Given the description of an element on the screen output the (x, y) to click on. 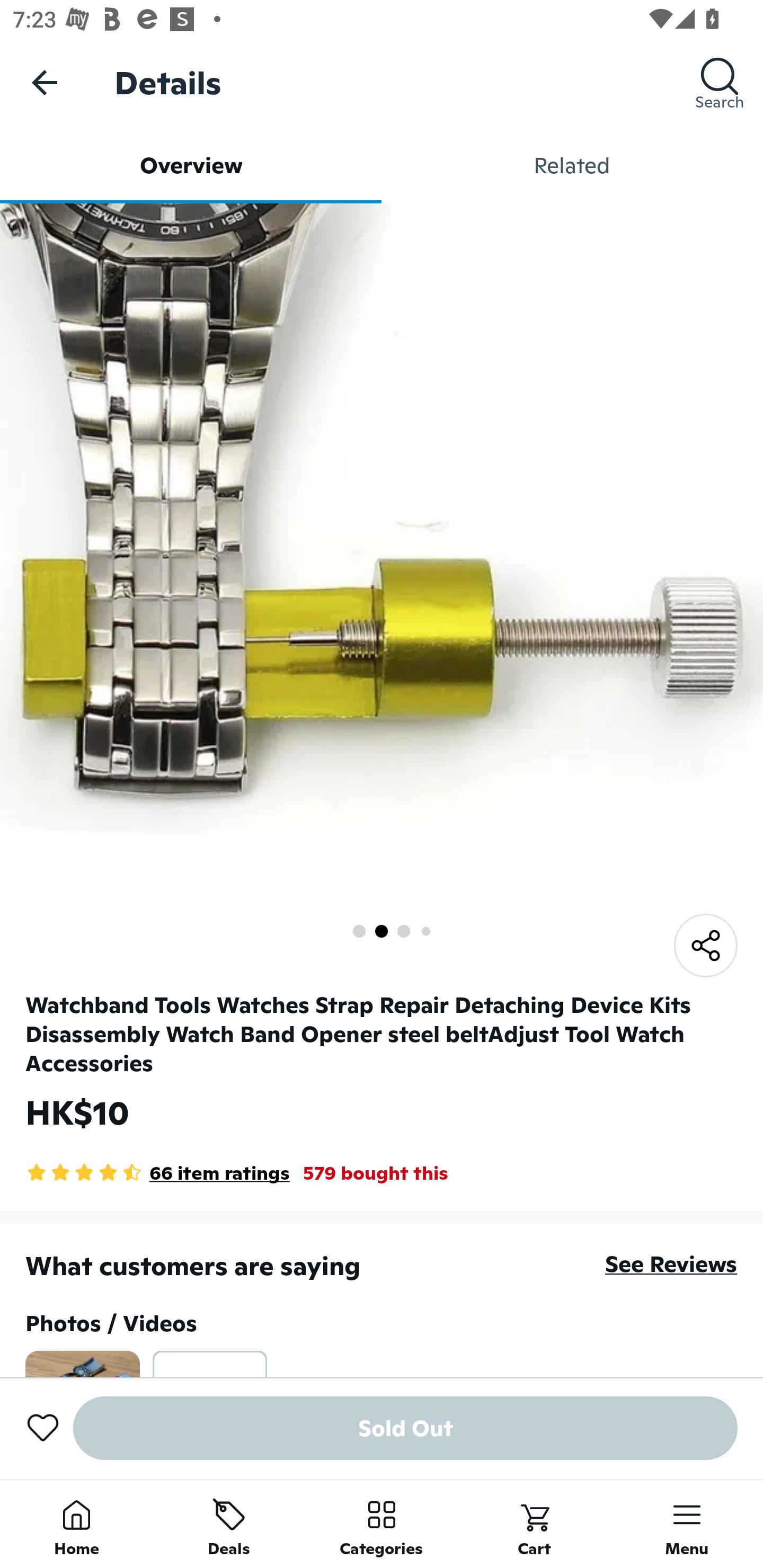
Navigate up (44, 82)
Search (719, 82)
Related (572, 165)
4.6 Star Rating 66 item ratings (157, 1172)
See Reviews (671, 1264)
Sold Out (405, 1428)
Home (76, 1523)
Deals (228, 1523)
Categories (381, 1523)
Cart (533, 1523)
Menu (686, 1523)
